Given the description of an element on the screen output the (x, y) to click on. 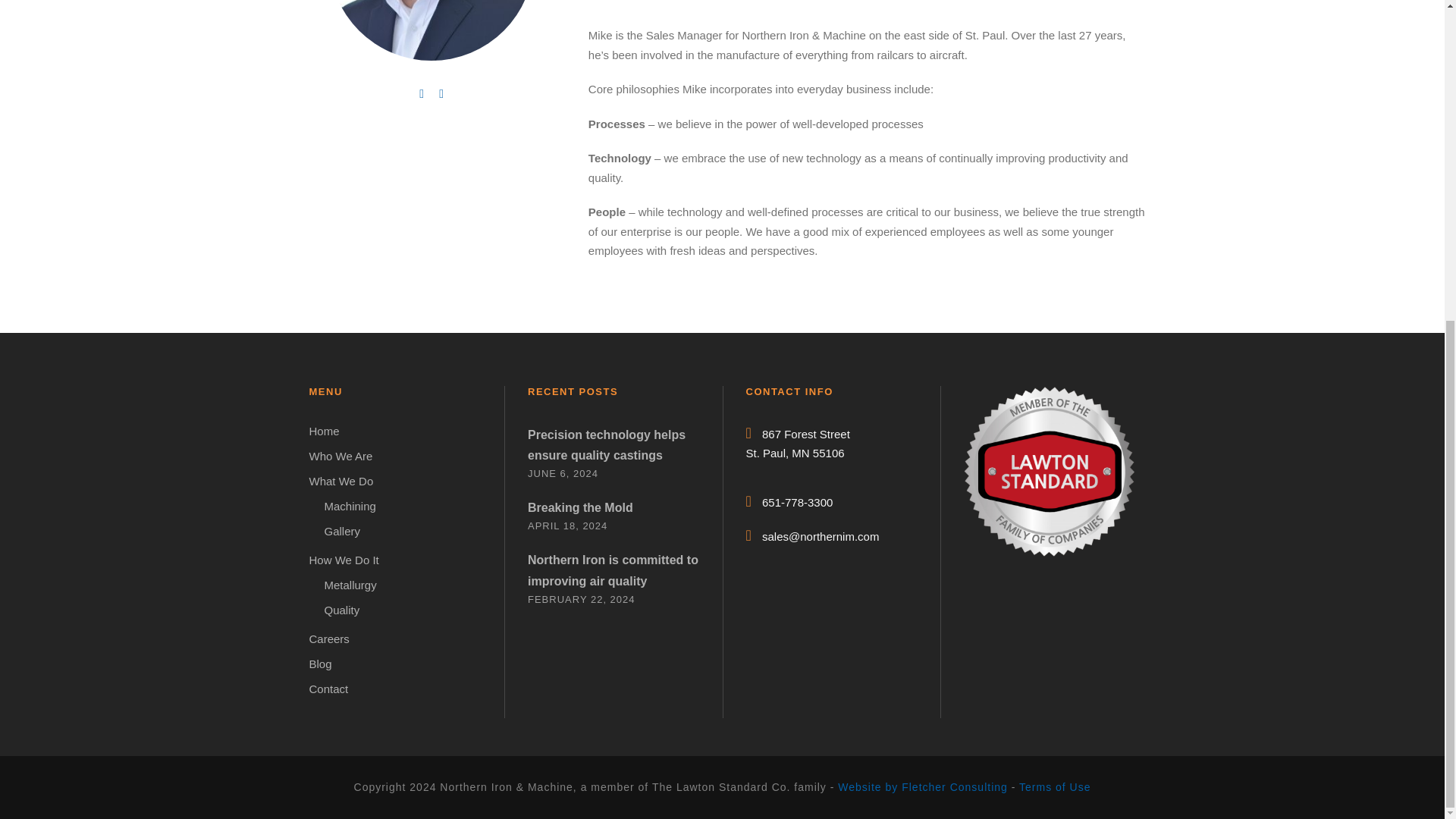
mike mcdavid (431, 30)
